Given the description of an element on the screen output the (x, y) to click on. 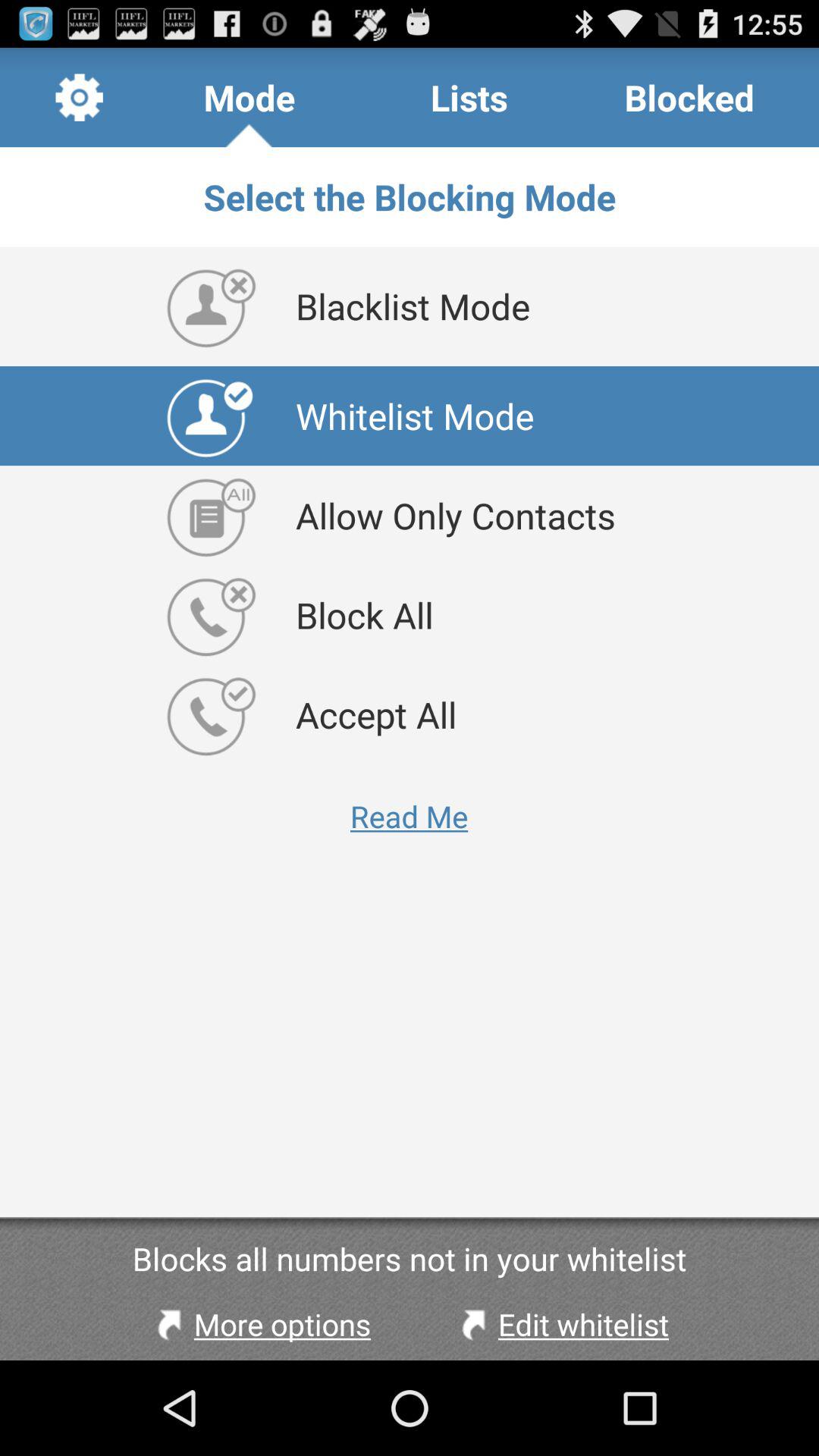
launch item below the blocks all numbers item (561, 1324)
